Given the description of an element on the screen output the (x, y) to click on. 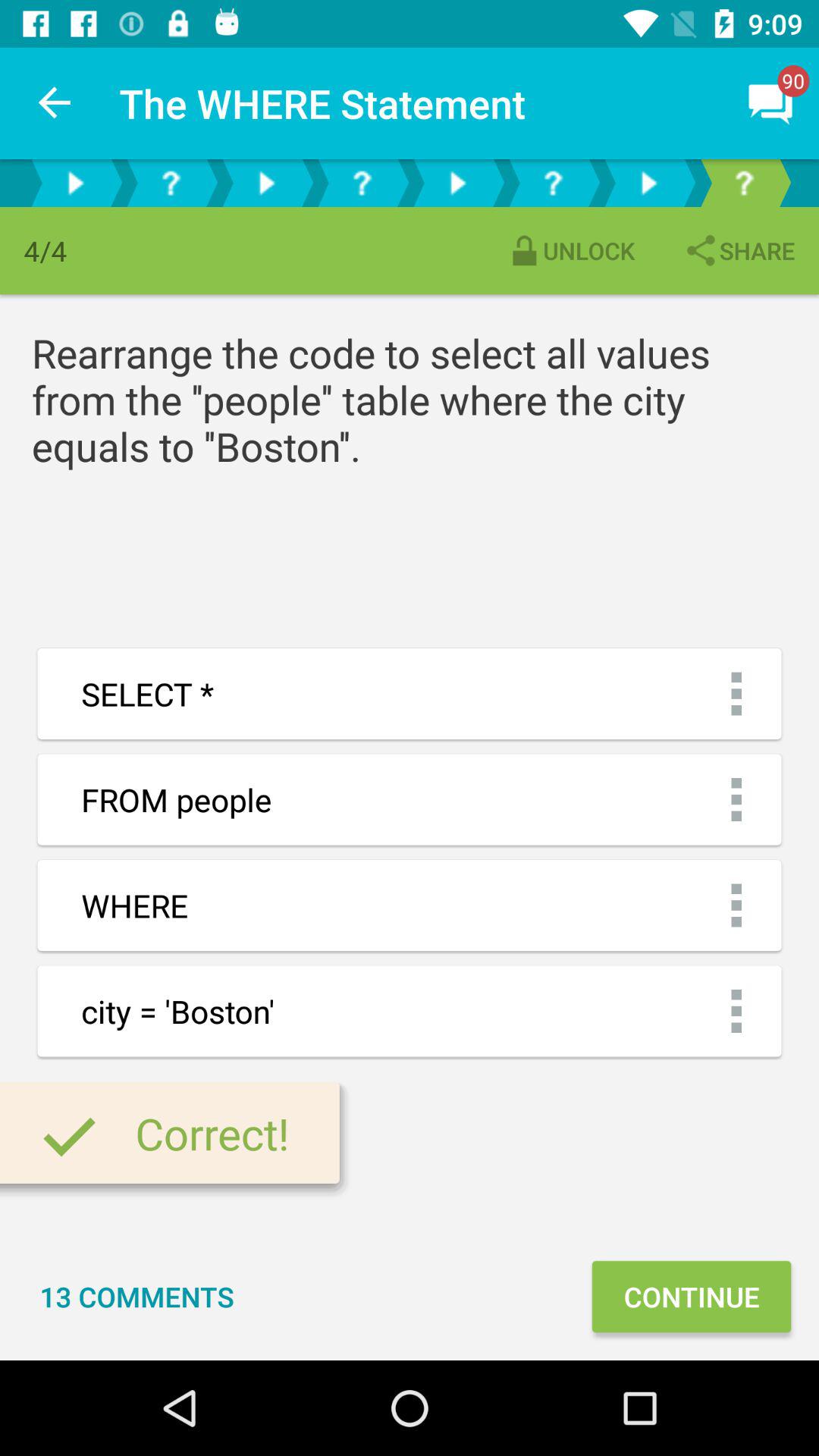
tap the continue item (691, 1296)
